Given the description of an element on the screen output the (x, y) to click on. 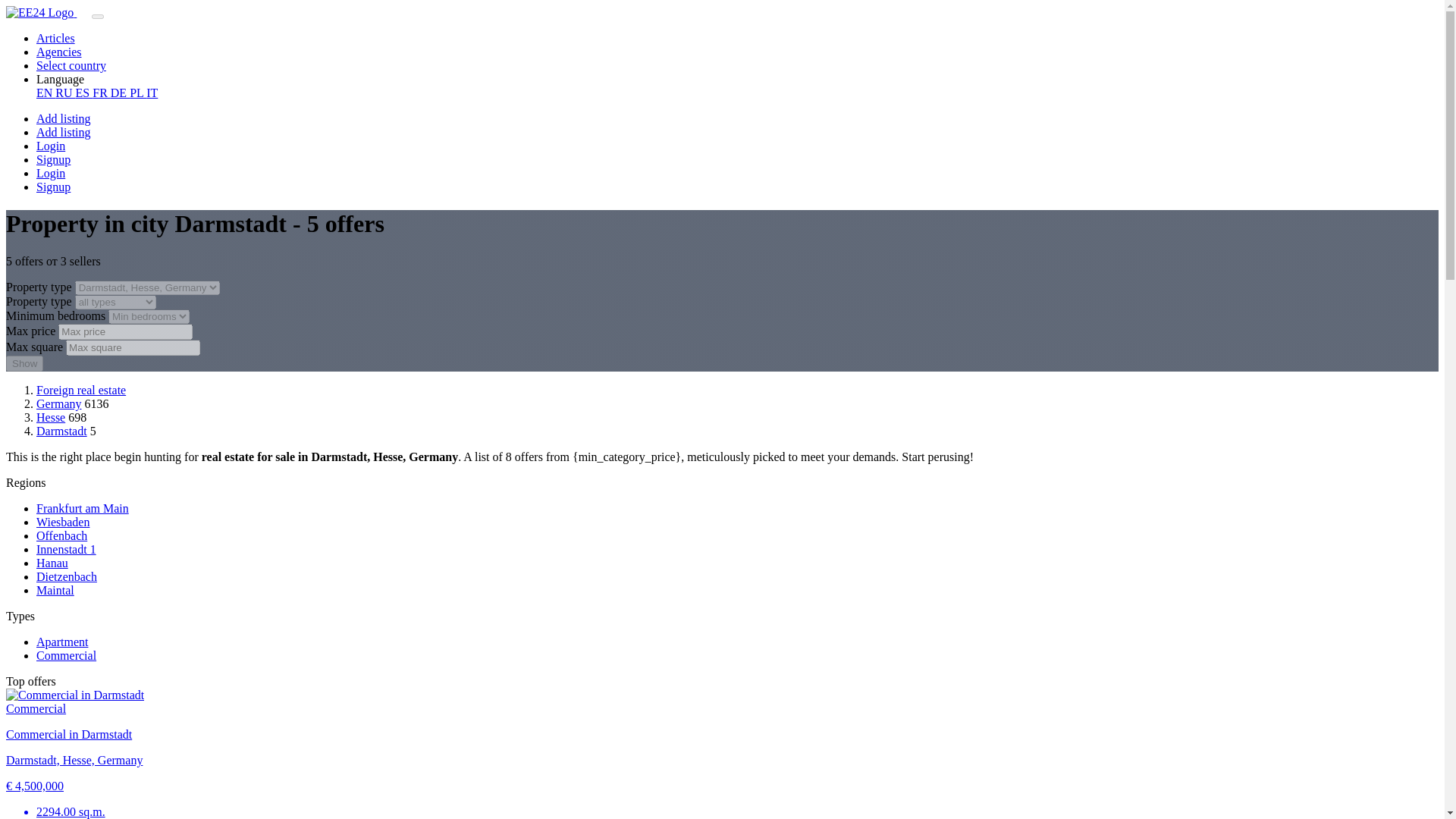
Agencies (58, 51)
Germany (58, 403)
Apartment (61, 641)
EN (45, 92)
Darmstadt (61, 431)
ES (84, 92)
PL (138, 92)
Login (50, 145)
FR (101, 92)
Signup (52, 159)
